Given the description of an element on the screen output the (x, y) to click on. 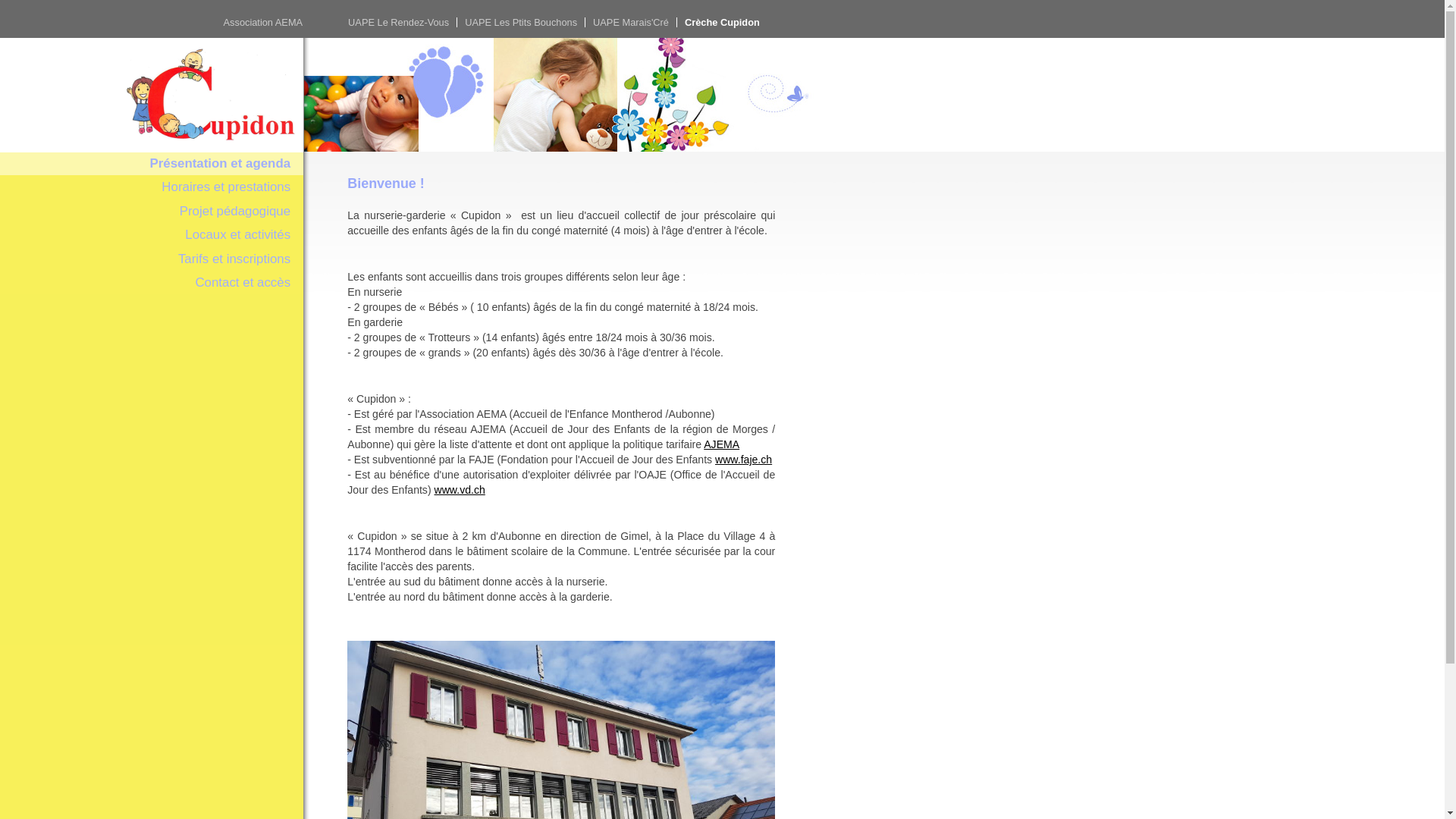
Association AEMA Element type: text (154, 22)
www.faje.ch Element type: text (743, 459)
Horaires et prestations Element type: text (151, 186)
www.vd.ch Element type: text (459, 489)
UAPE Le Rendez-Vous Element type: text (398, 22)
AJEMA Element type: text (721, 444)
UAPE Les Ptits Bouchons Element type: text (520, 22)
Tarifs et inscriptions Element type: text (151, 258)
